Given the description of an element on the screen output the (x, y) to click on. 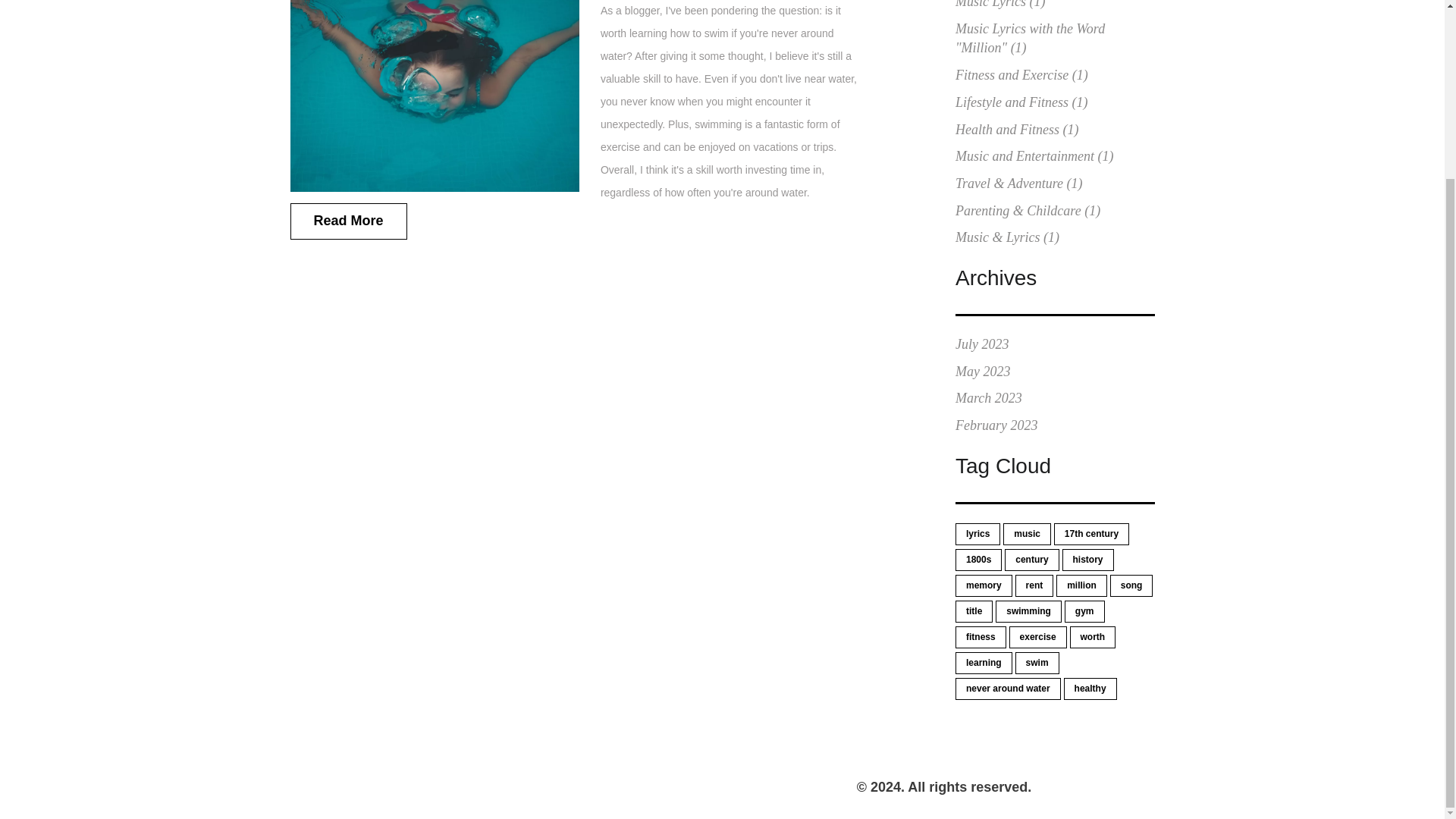
lyrics (977, 534)
swim (1036, 662)
July 2023 (982, 344)
March 2023 (988, 397)
rent (1034, 585)
learning (983, 662)
song (1131, 585)
fitness (980, 637)
May 2023 (982, 371)
history (1087, 559)
gym (1084, 611)
memory (983, 585)
music (1027, 534)
swimming (1028, 611)
title (973, 611)
